Given the description of an element on the screen output the (x, y) to click on. 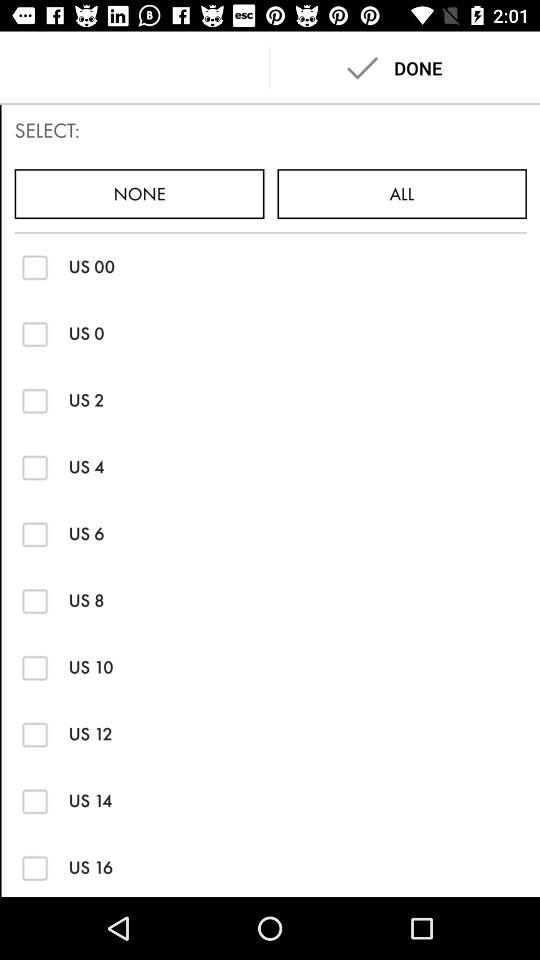
check box option (34, 467)
